Given the description of an element on the screen output the (x, y) to click on. 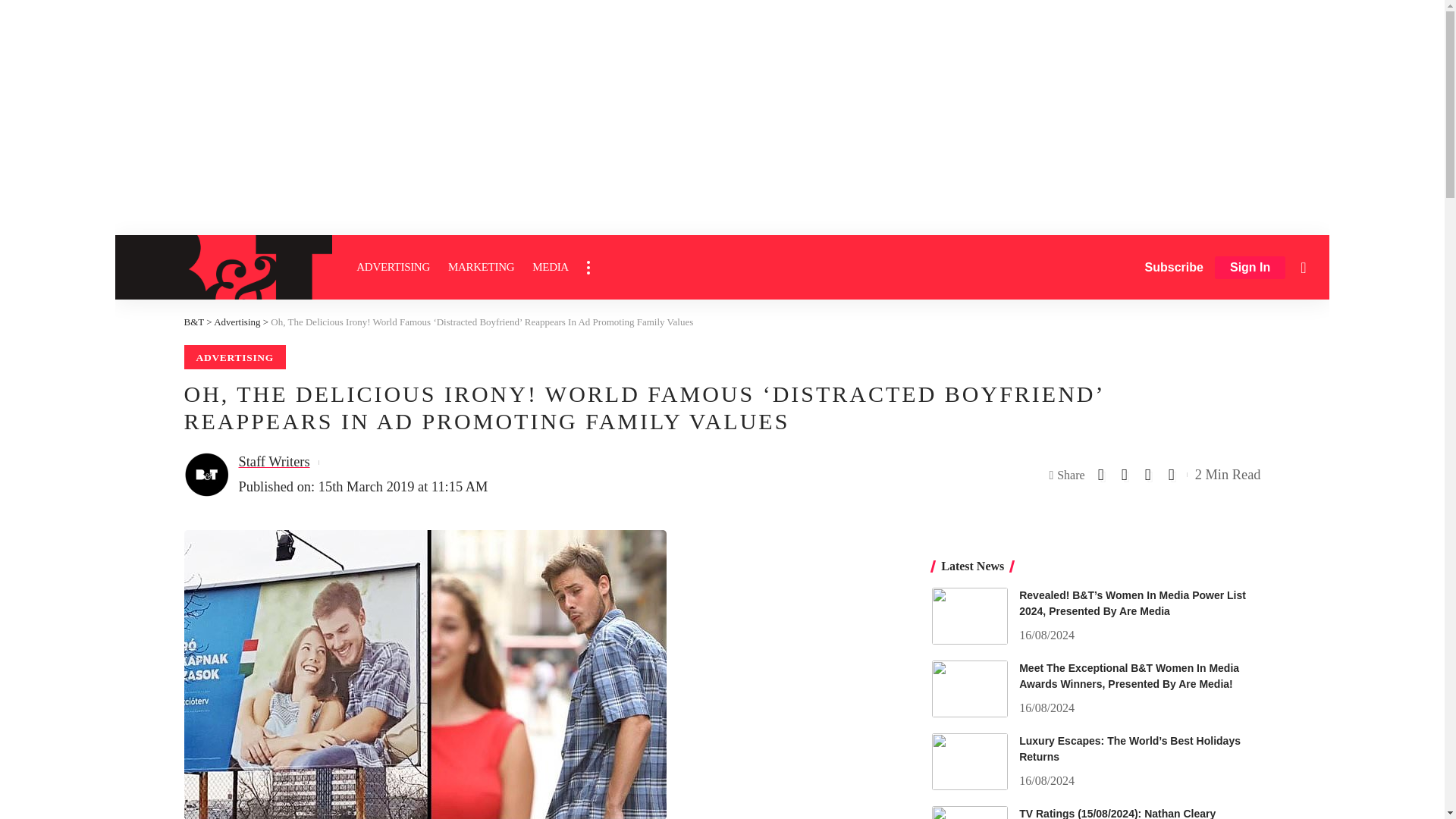
Subscribe (1174, 267)
MARKETING (480, 267)
ADVERTISING (393, 267)
Go to the Advertising Category archives. (237, 321)
Sign In (1249, 267)
